Given the description of an element on the screen output the (x, y) to click on. 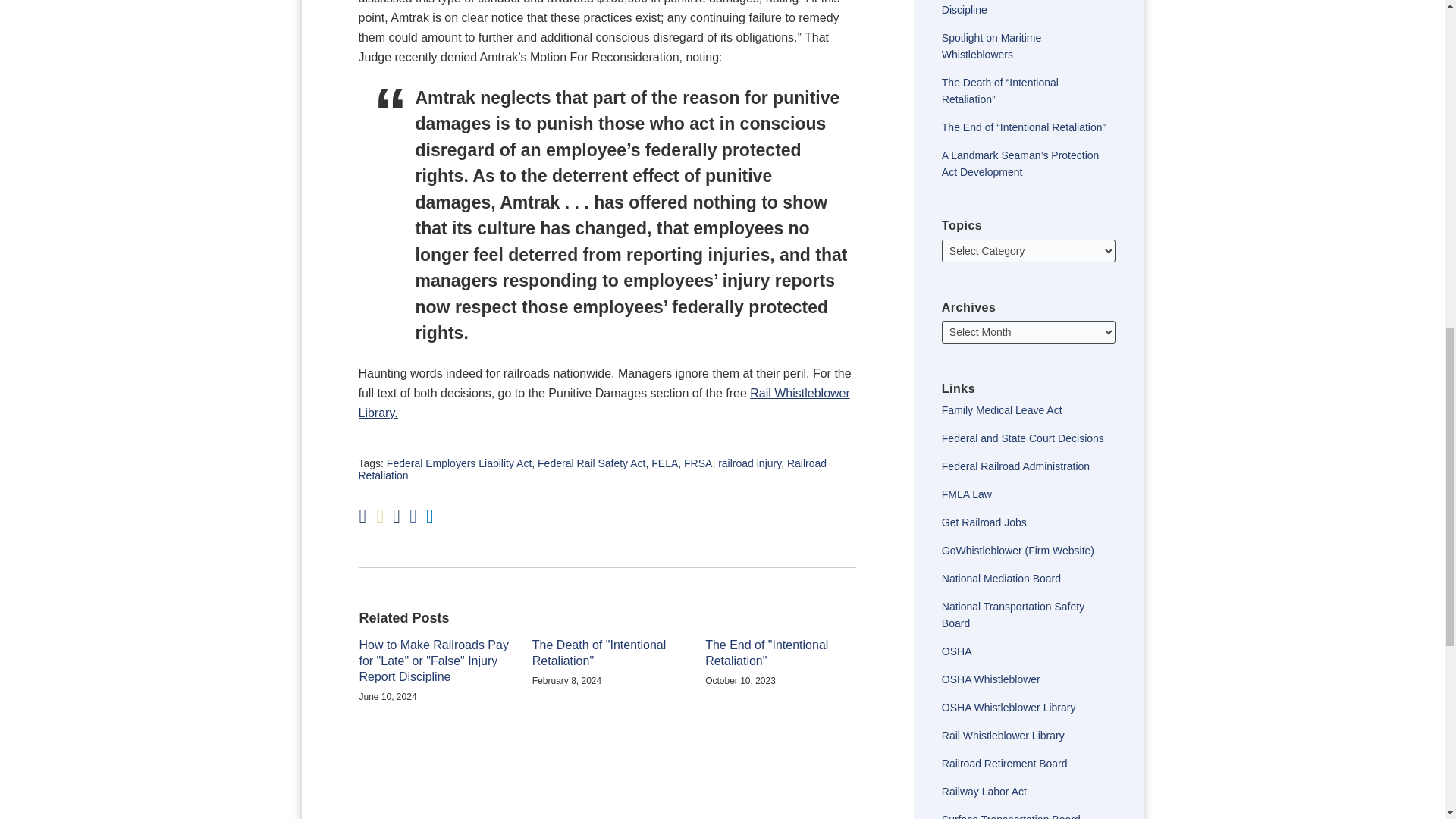
Federal and State Court Decisions (1022, 438)
Spotlight on Maritime Whistleblowers (992, 45)
Railroad Retaliation (592, 469)
Rail Whistleblower Library. (603, 402)
Print: (362, 516)
FELA (664, 463)
The End of "Intentional Retaliation" (780, 653)
Tweet this post (396, 516)
Family Medical Leave Act (1002, 410)
FRSA (697, 463)
Like this post (412, 516)
Federal Rail Safety Act (591, 463)
The Death of "Intentional Retaliation" (607, 653)
railroad injury (748, 463)
